Given the description of an element on the screen output the (x, y) to click on. 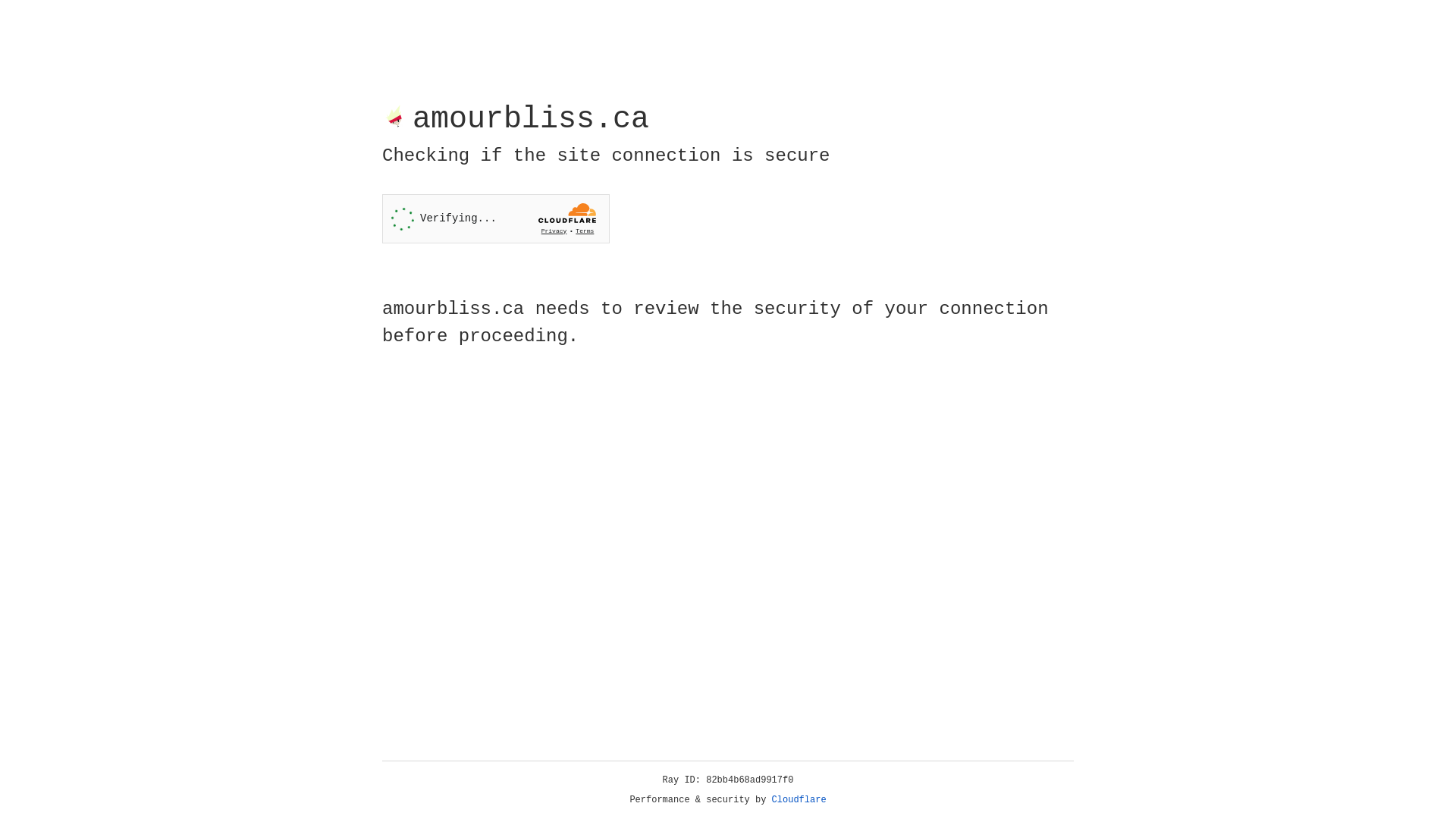
Widget containing a Cloudflare security challenge Element type: hover (495, 218)
Cloudflare Element type: text (798, 799)
